Given the description of an element on the screen output the (x, y) to click on. 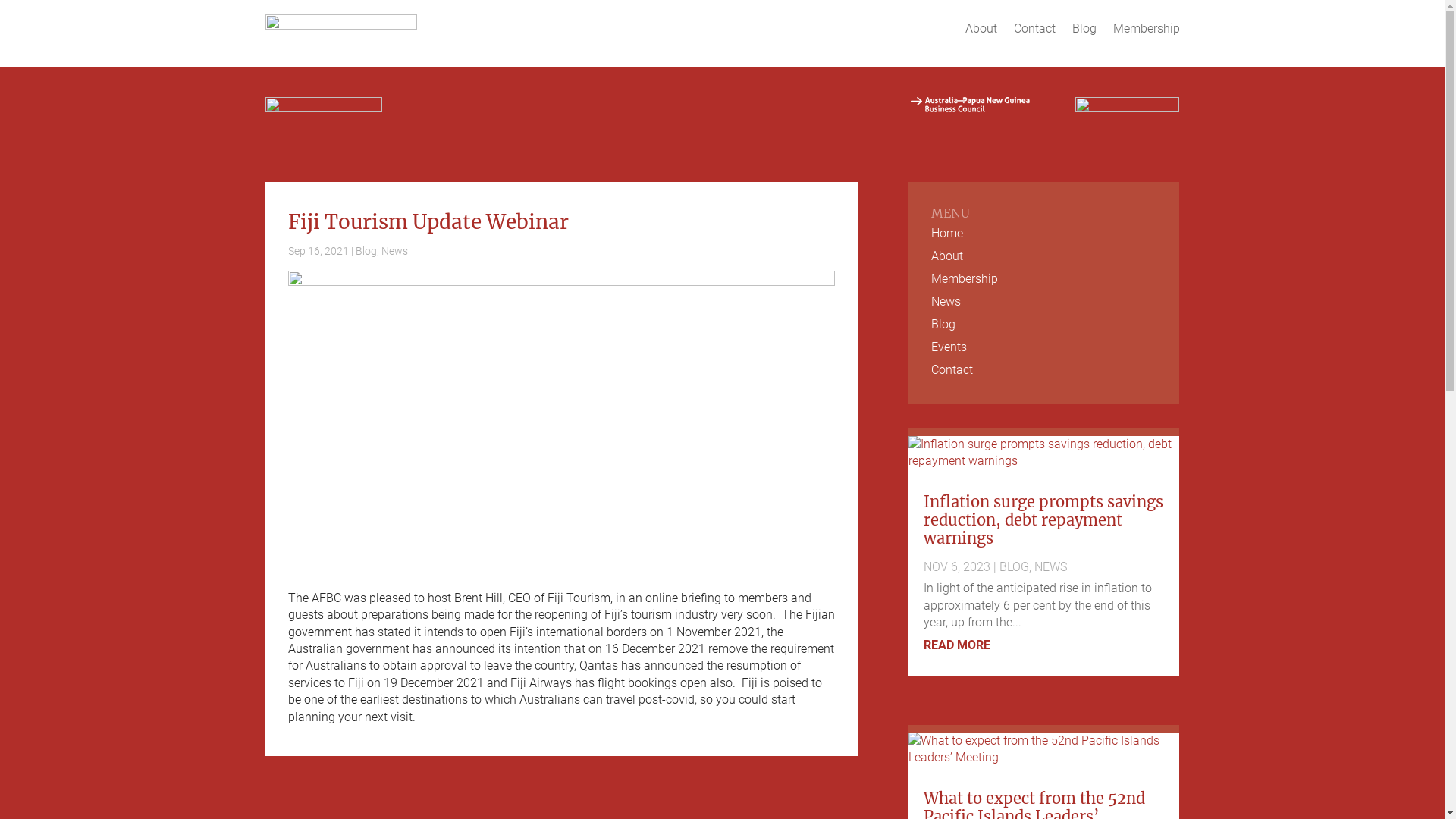
BLOG Element type: text (1014, 566)
Membership Element type: text (1044, 281)
Membership Element type: text (1146, 28)
Home Element type: text (1044, 236)
About Element type: text (980, 28)
News Element type: text (393, 250)
fiji-logo-2 Element type: hover (323, 111)
Events Element type: text (1044, 350)
Zoom screenshot Element type: hover (561, 418)
READ MORE Element type: text (956, 644)
Blog Element type: text (1044, 327)
Contact Element type: text (1033, 28)
Blog Element type: text (1084, 28)
Blog Element type: text (365, 250)
About Element type: text (1044, 259)
NEWS Element type: text (1050, 566)
News Element type: text (1044, 304)
Contact Element type: text (1044, 372)
